Given the description of an element on the screen output the (x, y) to click on. 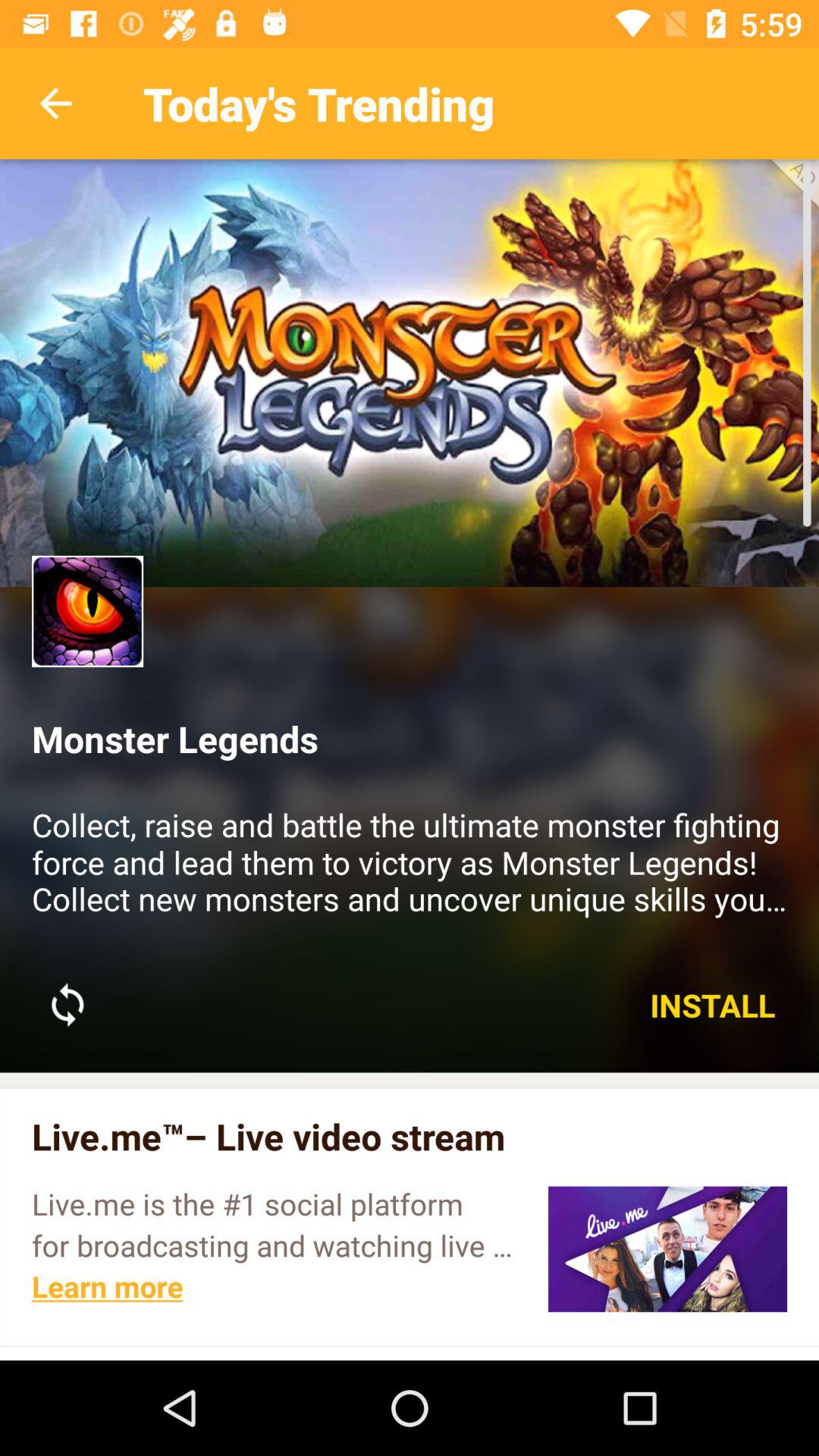
refresh (67, 1004)
